Given the description of an element on the screen output the (x, y) to click on. 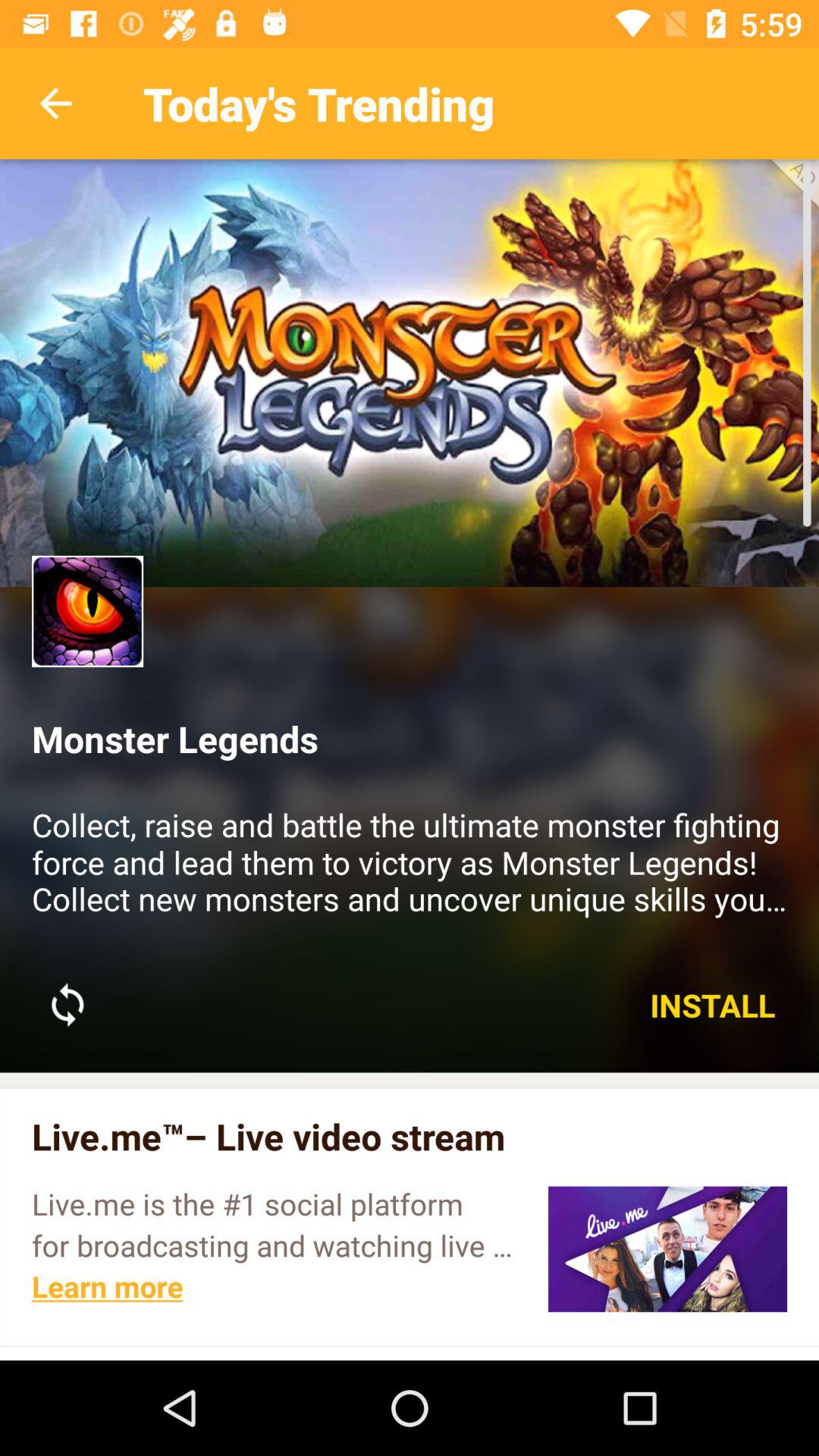
refresh (67, 1004)
